Given the description of an element on the screen output the (x, y) to click on. 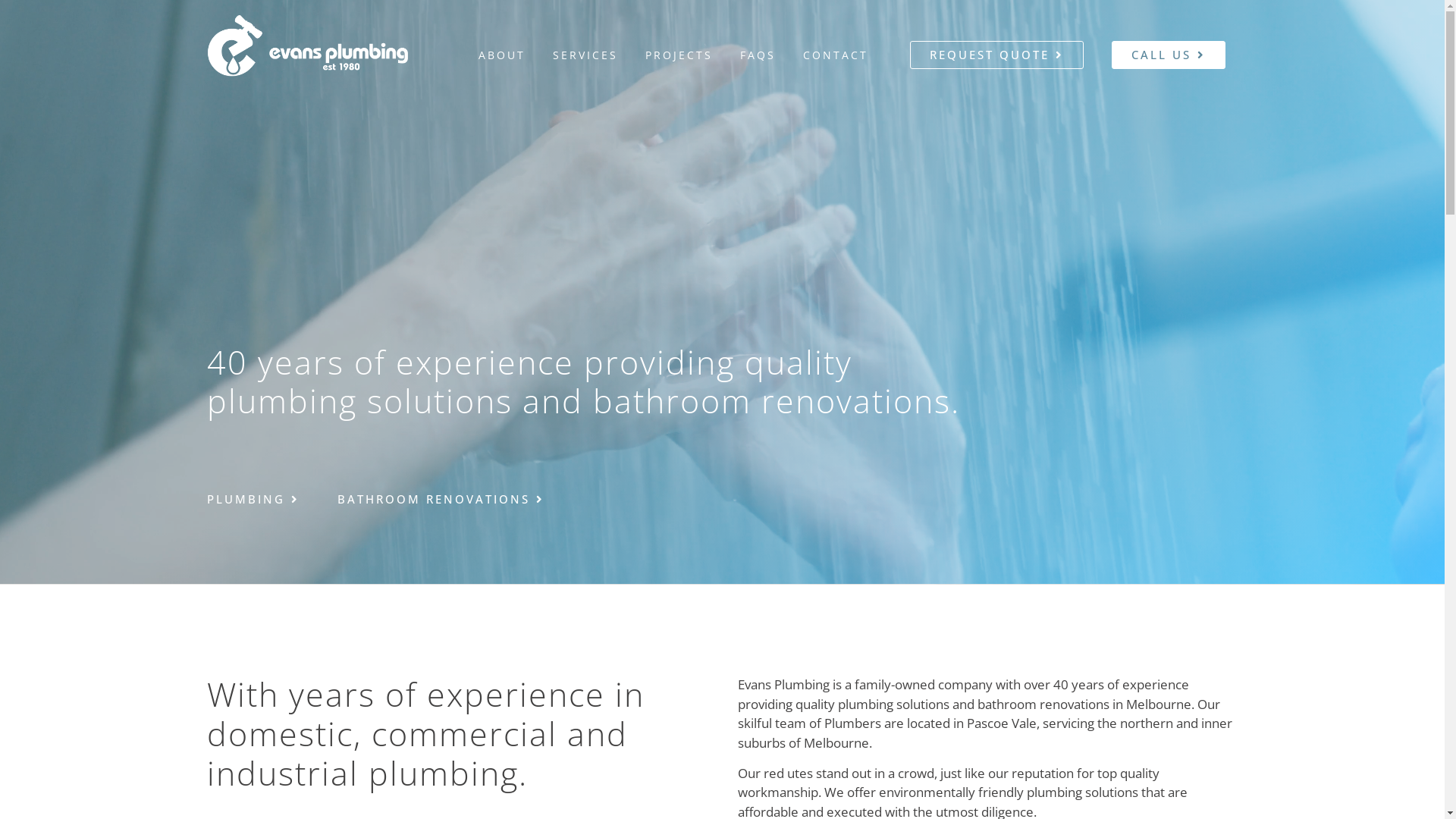
REQUEST QUOTE Element type: text (996, 54)
PLUMBING Element type: text (252, 499)
BATHROOM RENOVATIONS Element type: text (439, 499)
ABOUT Element type: text (501, 54)
SERVICES Element type: text (585, 54)
FAQS Element type: text (757, 54)
PROJECTS Element type: text (678, 54)
CALL US Element type: text (1168, 54)
CONTACT Element type: text (835, 54)
